Given the description of an element on the screen output the (x, y) to click on. 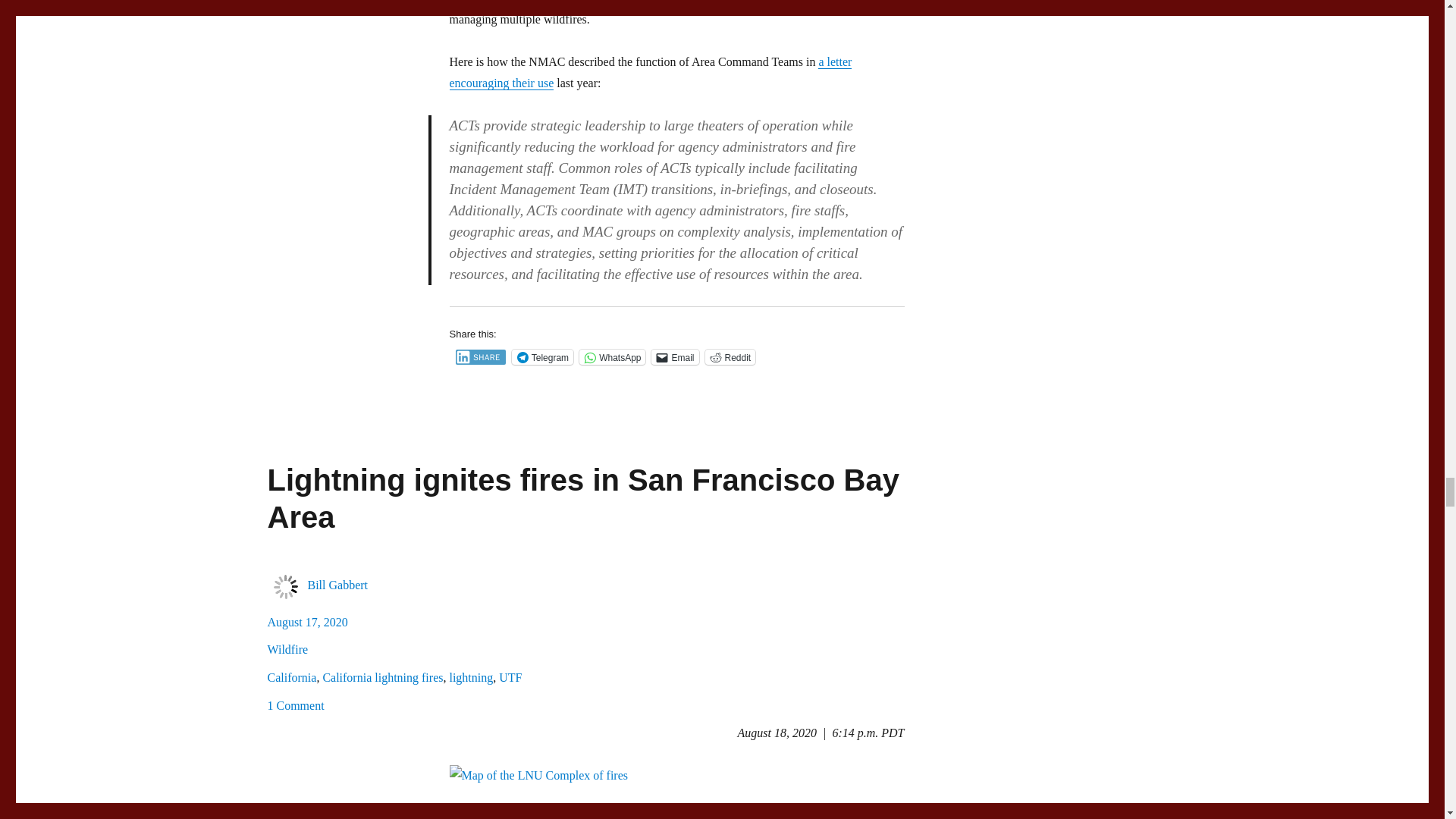
Click to email a link to a friend (674, 356)
Click to share on Reddit (729, 356)
Click to share on WhatsApp (612, 356)
Click to share on Telegram (542, 356)
